Given the description of an element on the screen output the (x, y) to click on. 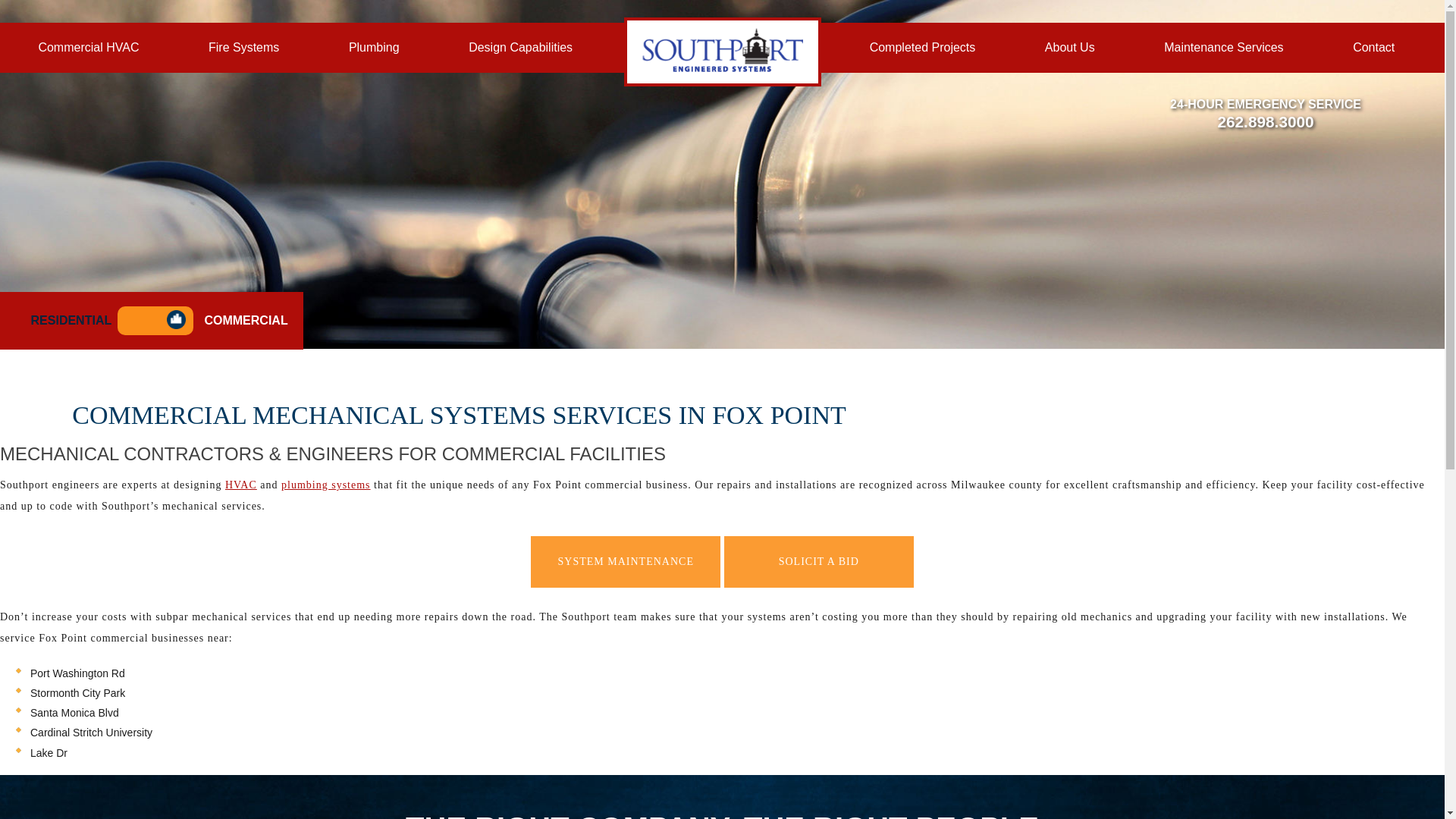
plumbing systems (326, 484)
Plumbing (374, 47)
Southport Engineered Systems past construction projects (922, 47)
About Us (1069, 47)
Maintenance Services (1223, 47)
Completed Projects (922, 47)
Commercial HVAC (88, 47)
Commercial and Industrial plumbing system capabilities (374, 47)
